Given the description of an element on the screen output the (x, y) to click on. 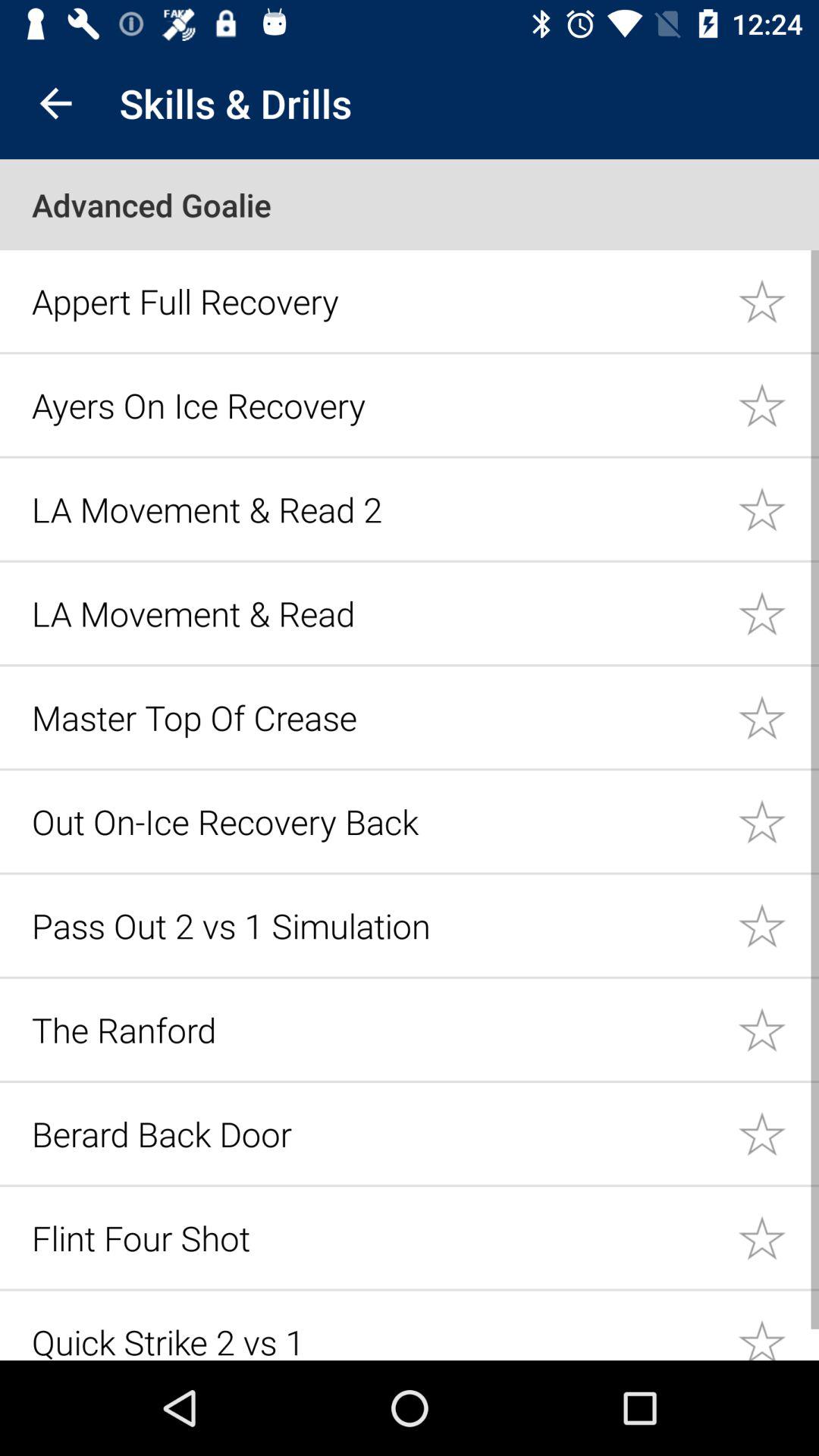
put this game on other list too (778, 1237)
